Given the description of an element on the screen output the (x, y) to click on. 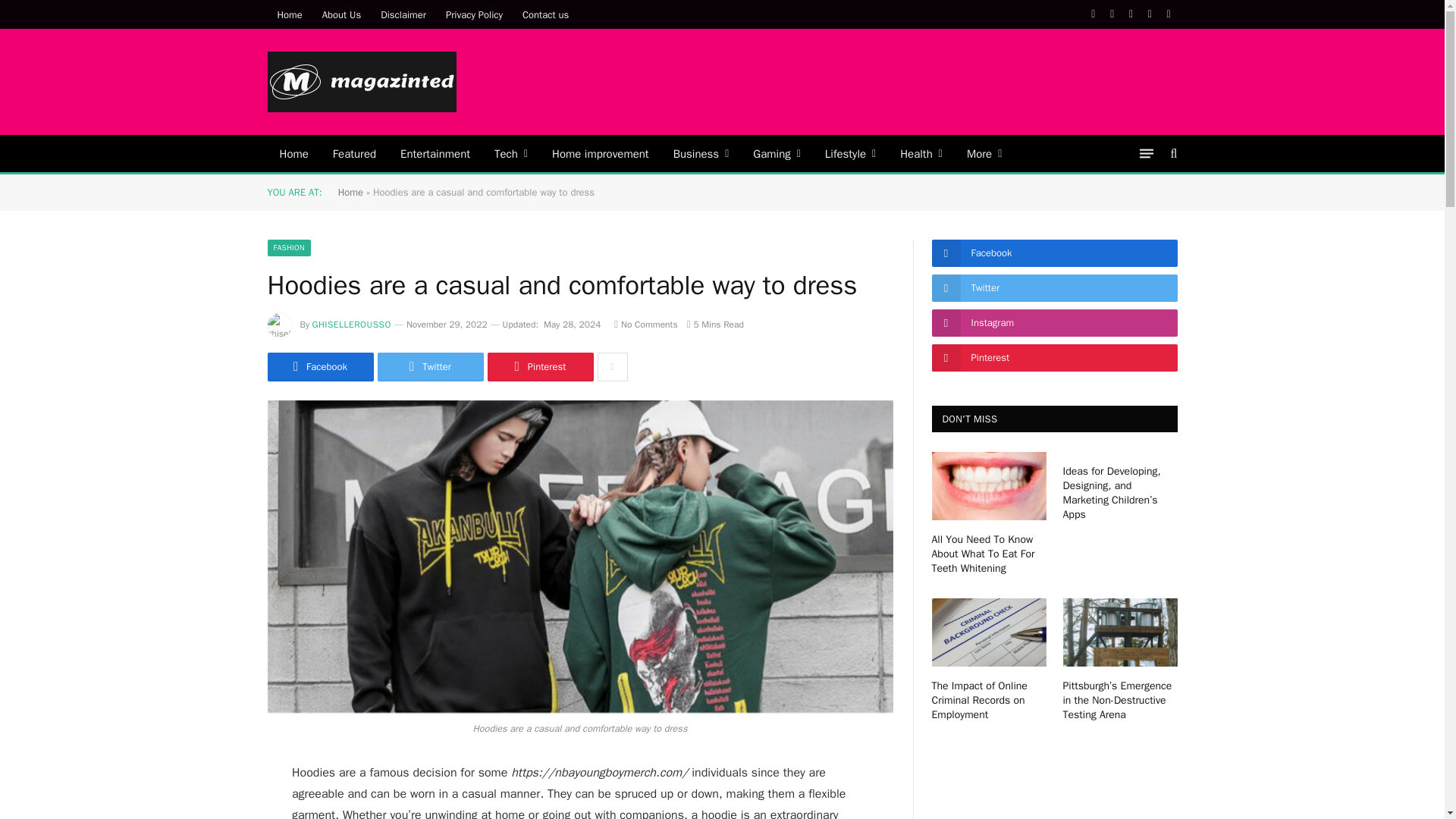
Health (921, 153)
Home (288, 14)
Home (293, 153)
Privacy Policy (473, 14)
Business (701, 153)
Home improvement (600, 153)
Posts by ghisellerousso (352, 324)
Disclaimer (403, 14)
Tech (510, 153)
Magazinted (360, 81)
Share on Pinterest (539, 366)
More (984, 153)
Share on Facebook (319, 366)
Contact us (545, 14)
About Us (342, 14)
